Given the description of an element on the screen output the (x, y) to click on. 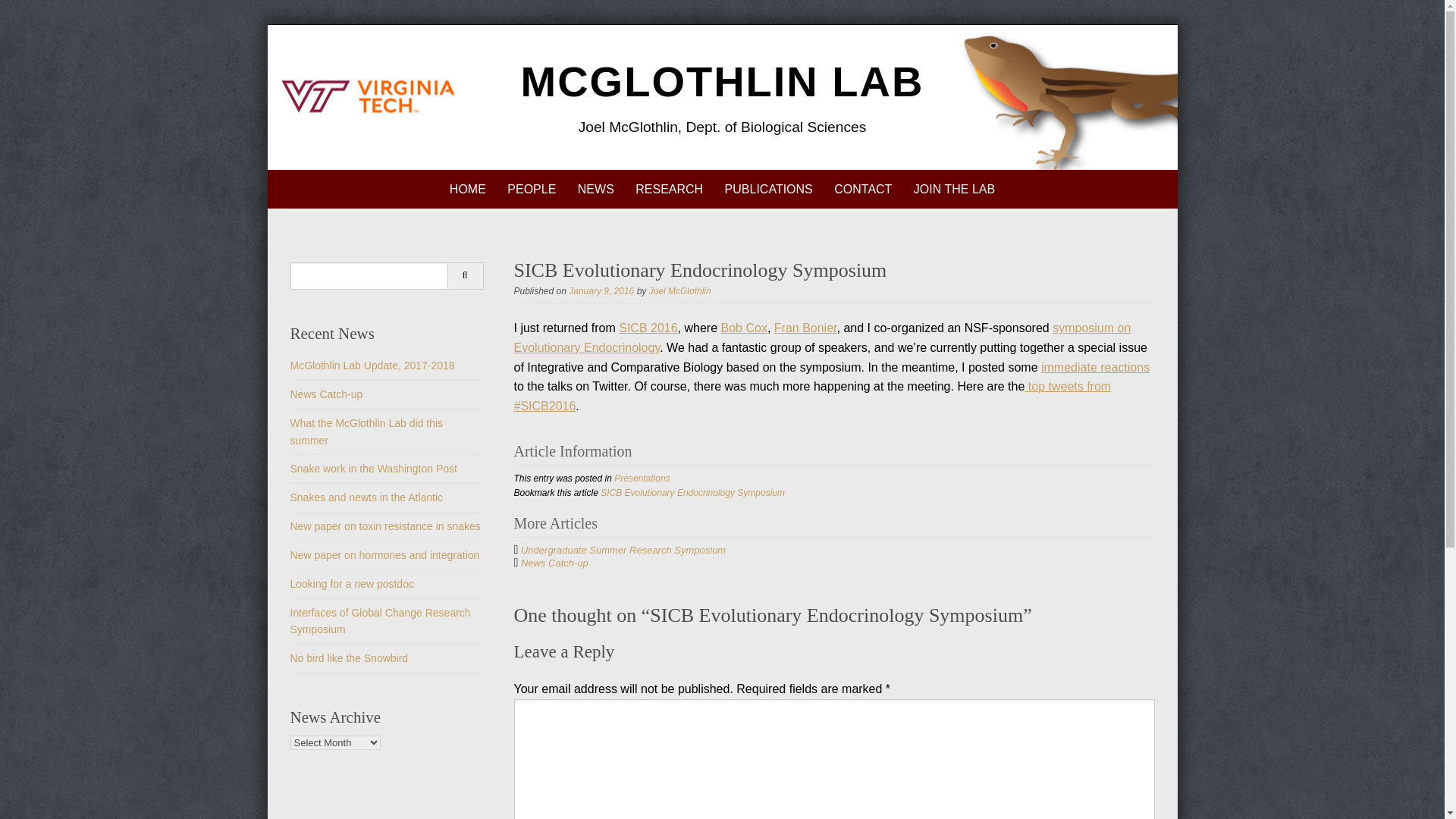
Search (464, 275)
McGlothlin Lab Update, 2017-2018 (371, 365)
symposium on Evolutionary Endocrinology (822, 337)
Snake work in the Washington Post (373, 468)
PEOPLE (530, 188)
McGlothlin Lab Joel McGlothlin, Dept. of Biological Sciences (722, 81)
News Catch-up (325, 394)
Joel McGlothlin (680, 290)
HOME (468, 188)
New paper on toxin resistance in snakes (384, 526)
immediate reactions (1095, 367)
Bob Cox (743, 327)
January 9, 2016 (601, 290)
